Given the description of an element on the screen output the (x, y) to click on. 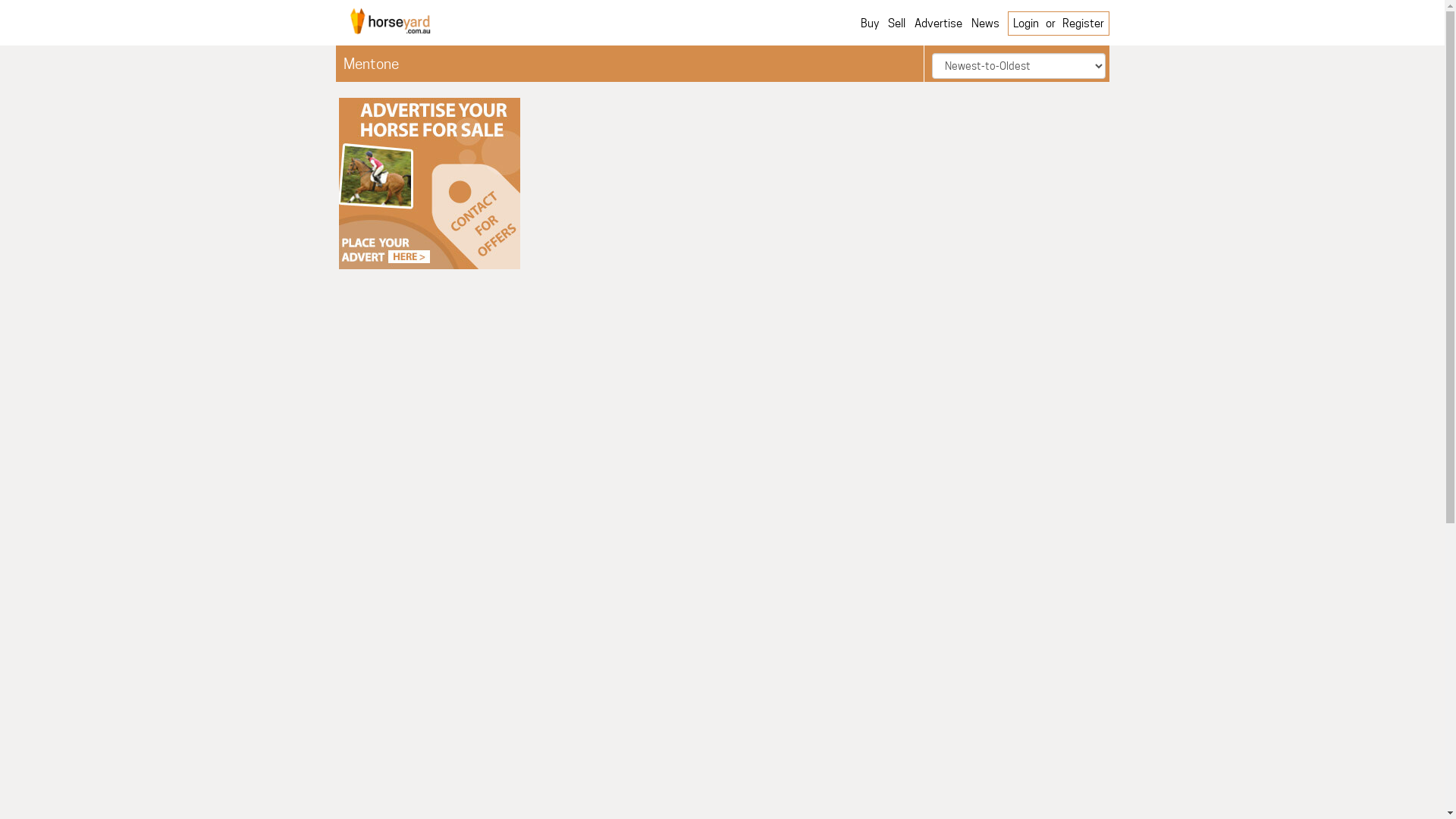
Login Element type: text (1025, 23)
Buy Element type: text (868, 28)
Register Element type: text (1082, 23)
Advertise Element type: text (938, 23)
Skip to main content Element type: text (50, 0)
News Element type: text (984, 23)
Sell Element type: text (895, 28)
